Given the description of an element on the screen output the (x, y) to click on. 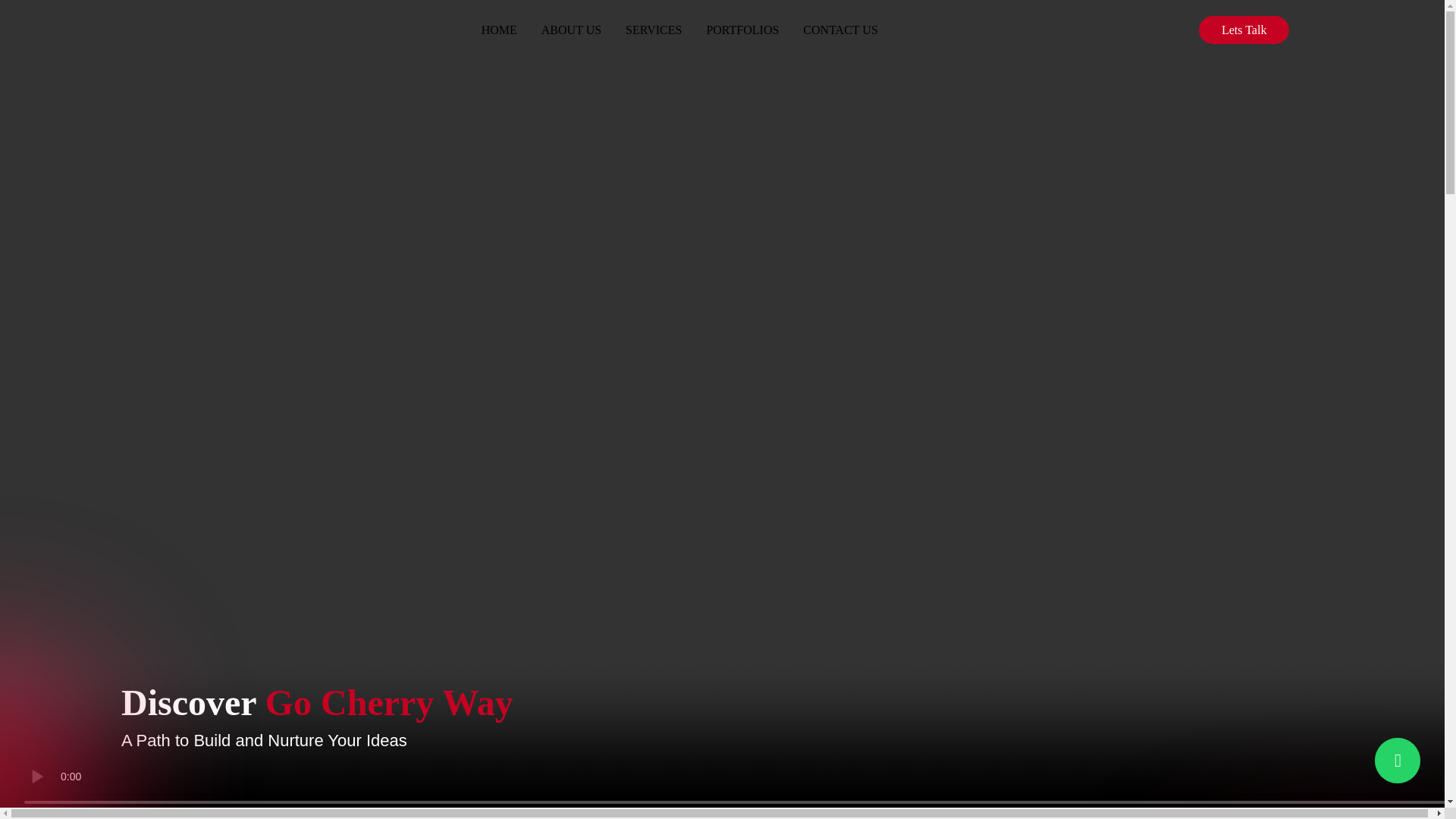
ABOUT US (571, 26)
CONTACT US (839, 26)
PORTFOLIOS (742, 26)
SERVICES (653, 26)
HOME (499, 26)
Lets Talk (1243, 29)
